Given the description of an element on the screen output the (x, y) to click on. 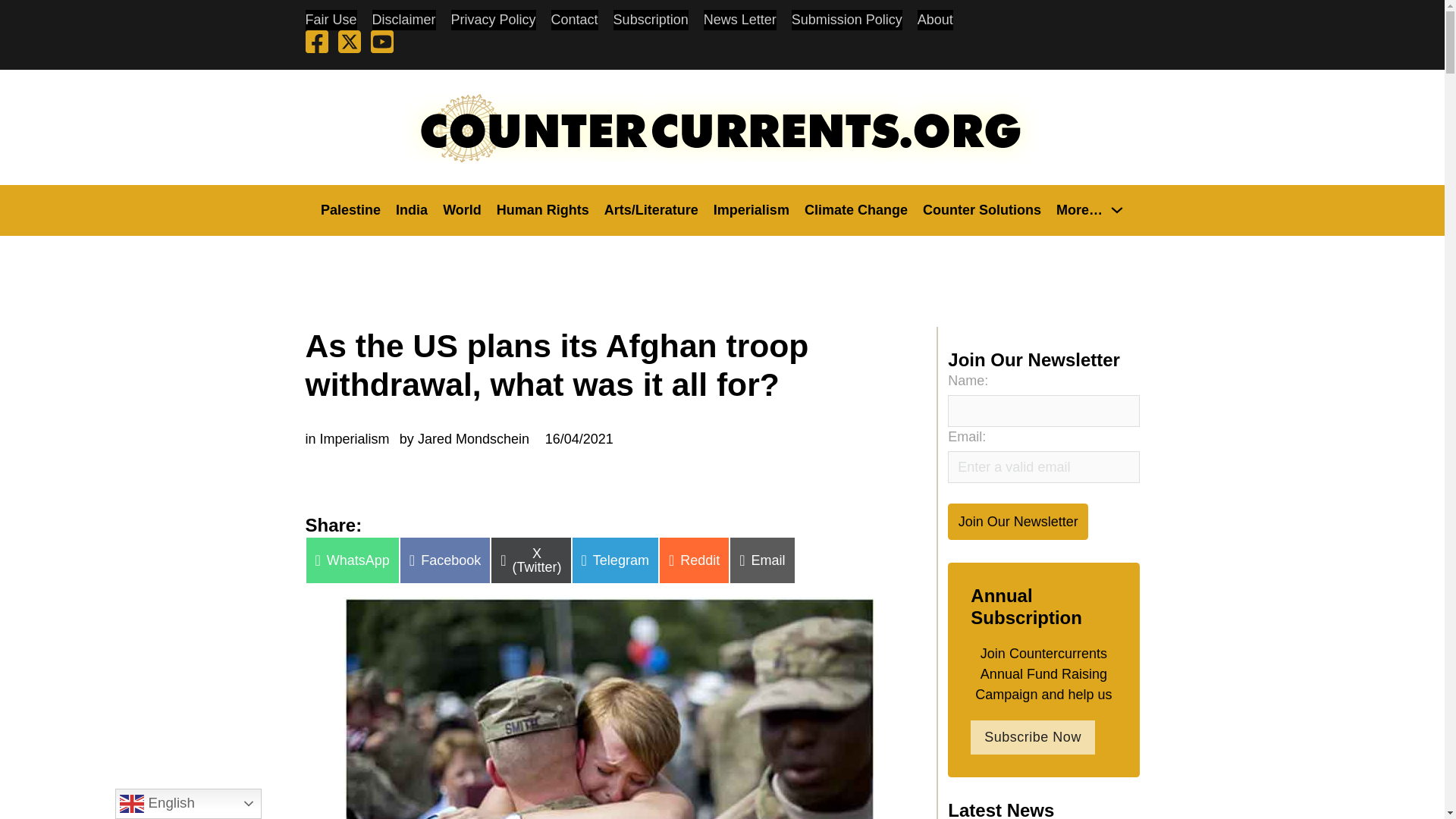
Fair Use (330, 19)
About (935, 19)
World (461, 209)
Palestine (350, 209)
Counter Solutions (982, 209)
Privacy Policy (493, 19)
Climate Change (856, 209)
Contact (574, 19)
Join Our Newsletter (1017, 520)
